Given the description of an element on the screen output the (x, y) to click on. 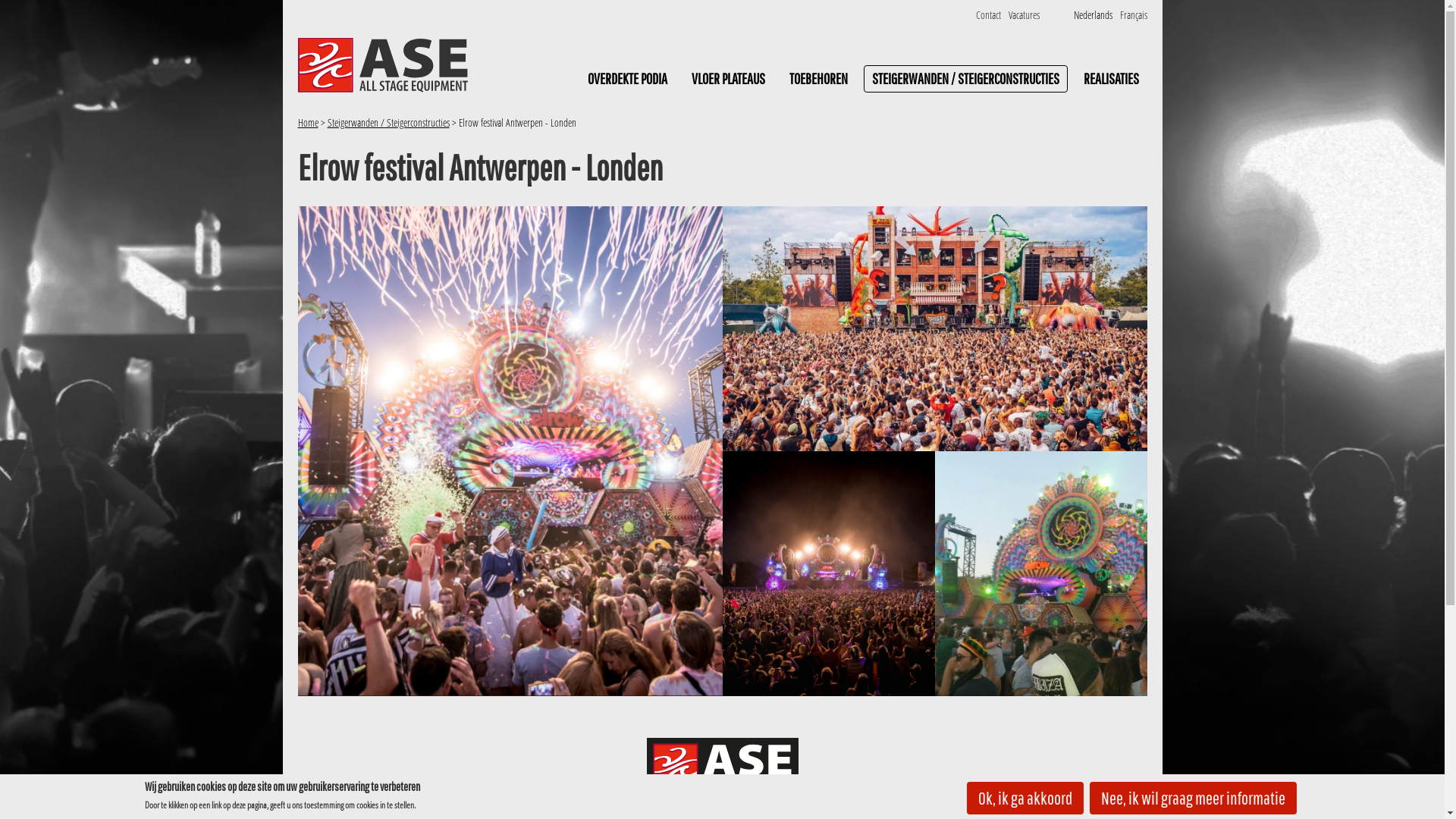
Overslaan en naar de inhoud gaan Element type: text (67, 0)
ASE Element type: text (382, 65)
Steigerwanden / Steigerconstructies Element type: text (388, 122)
OVERDEKTE PODIA Element type: text (627, 78)
Vacatures Element type: text (1023, 14)
VLOER PLATEAUS Element type: text (727, 78)
Contact Element type: text (987, 14)
REALISATIES Element type: text (1111, 78)
Ok, ik ga akkoord Element type: text (1024, 797)
ASE Element type: text (721, 765)
Home Element type: text (307, 122)
TOEBEHOREN Element type: text (818, 78)
STEIGERWANDEN / STEIGERCONSTRUCTIES Element type: text (964, 78)
Nederlands Element type: text (1092, 14)
Nee, ik wil graag meer informatie Element type: text (1191, 797)
